Given the description of an element on the screen output the (x, y) to click on. 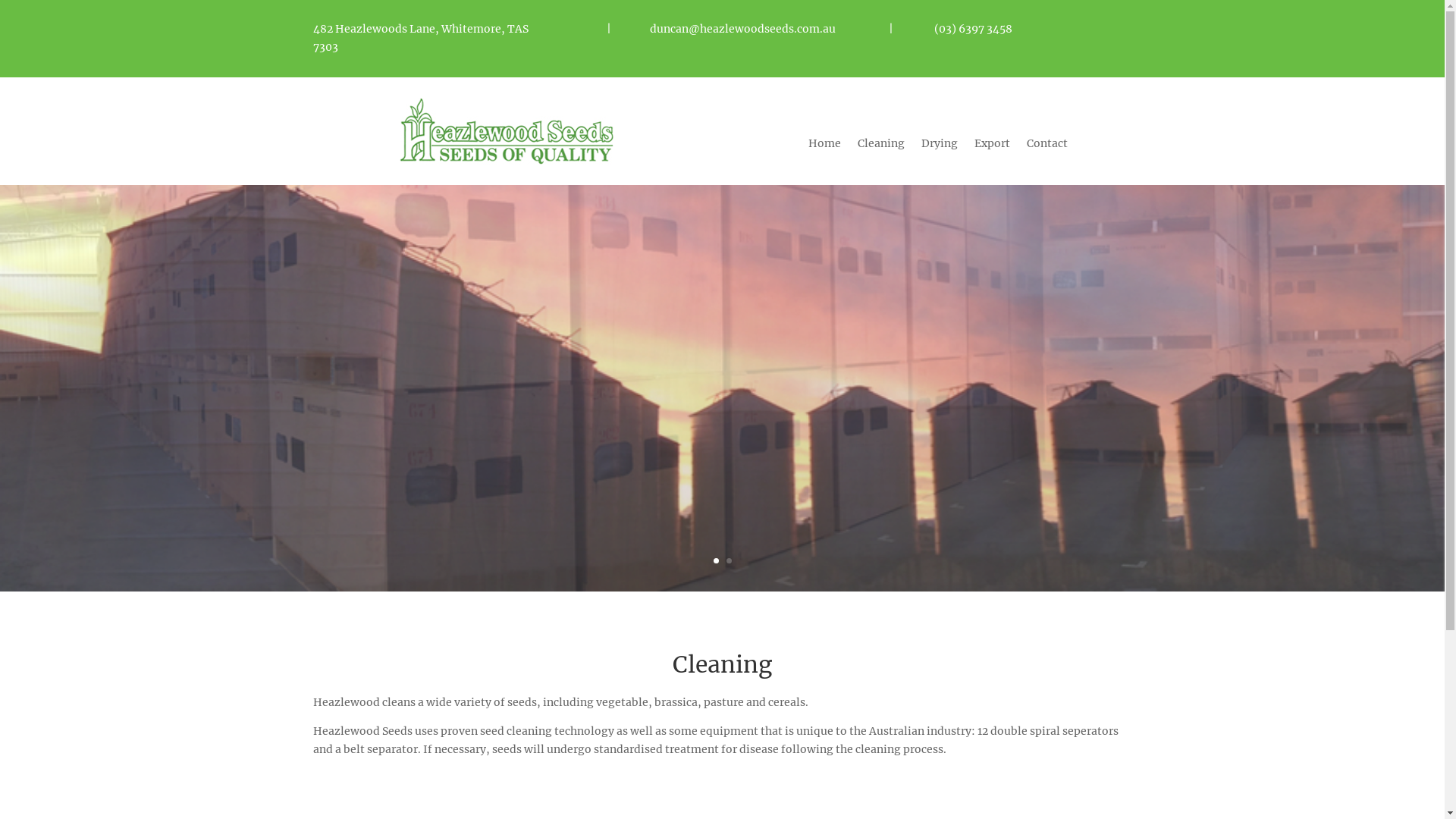
logo Element type: hover (506, 130)
2 Element type: text (728, 560)
  duncan@heazlewoodseeds.com.au Element type: text (740, 28)
Cleaning Element type: text (880, 146)
Home Element type: text (824, 146)
1 Element type: text (715, 560)
Contact Element type: text (1046, 146)
 (03) 6397 3458 Element type: text (971, 28)
Export Element type: text (992, 146)
Drying Element type: text (939, 146)
